Given the description of an element on the screen output the (x, y) to click on. 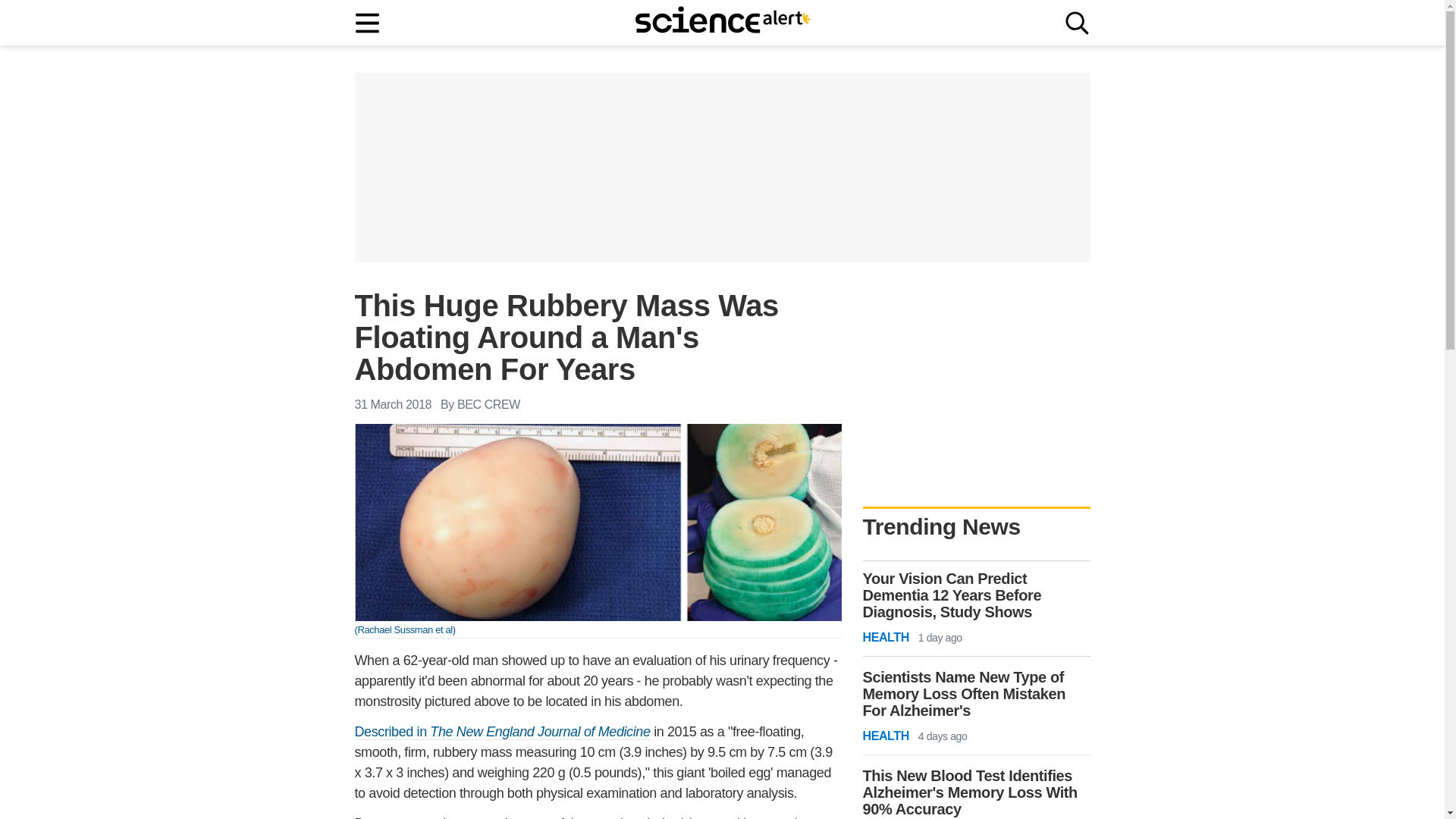
HEALTH (885, 637)
Described in The New England Journal of Medicine (502, 731)
HEALTH (885, 736)
